Given the description of an element on the screen output the (x, y) to click on. 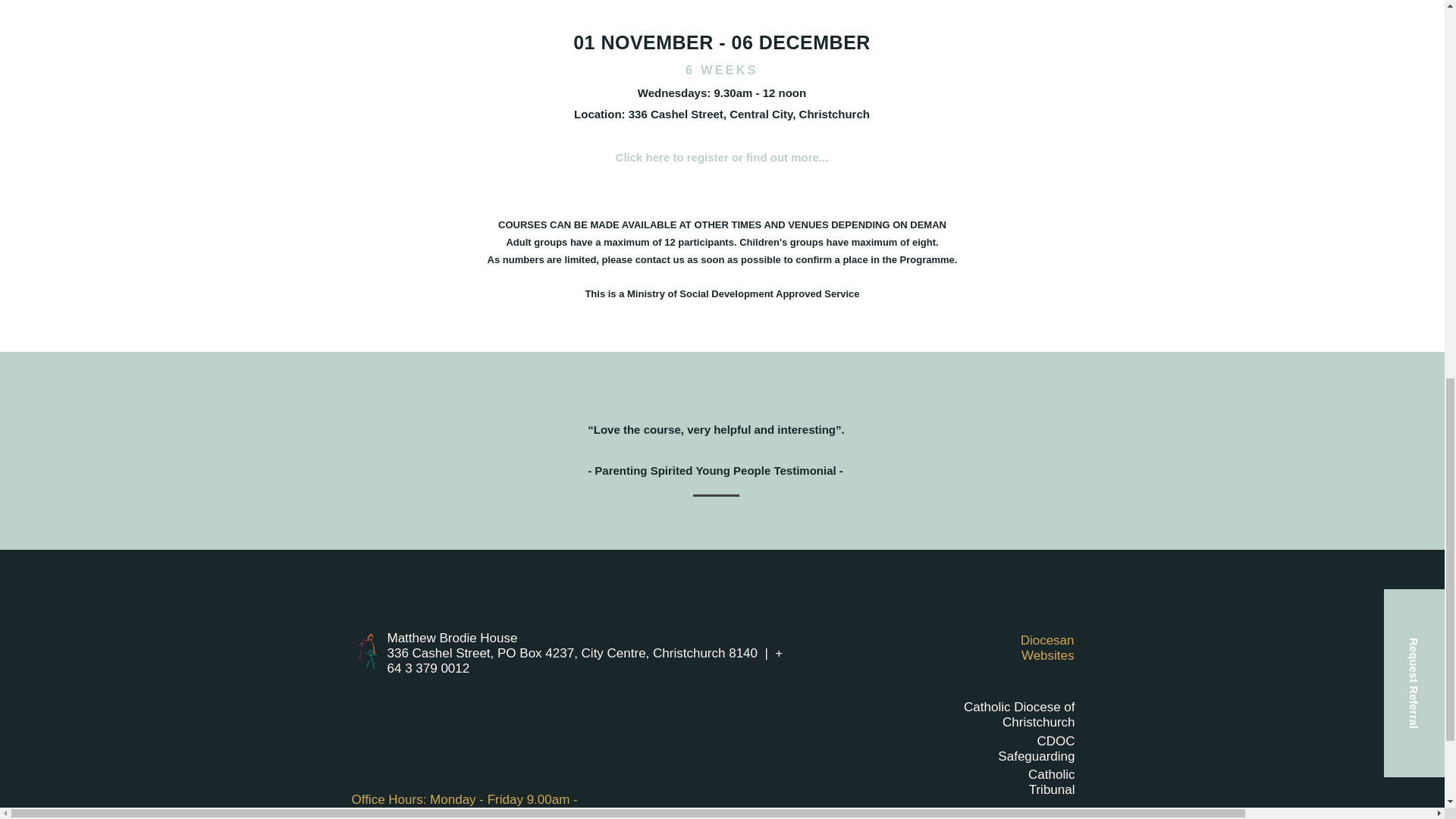
Catholic Diocese of Christchurch (1018, 714)
Catholic Tribunal (1050, 781)
CDOC Safeguarding (1035, 748)
Click here to register or find out more... (721, 156)
